Given the description of an element on the screen output the (x, y) to click on. 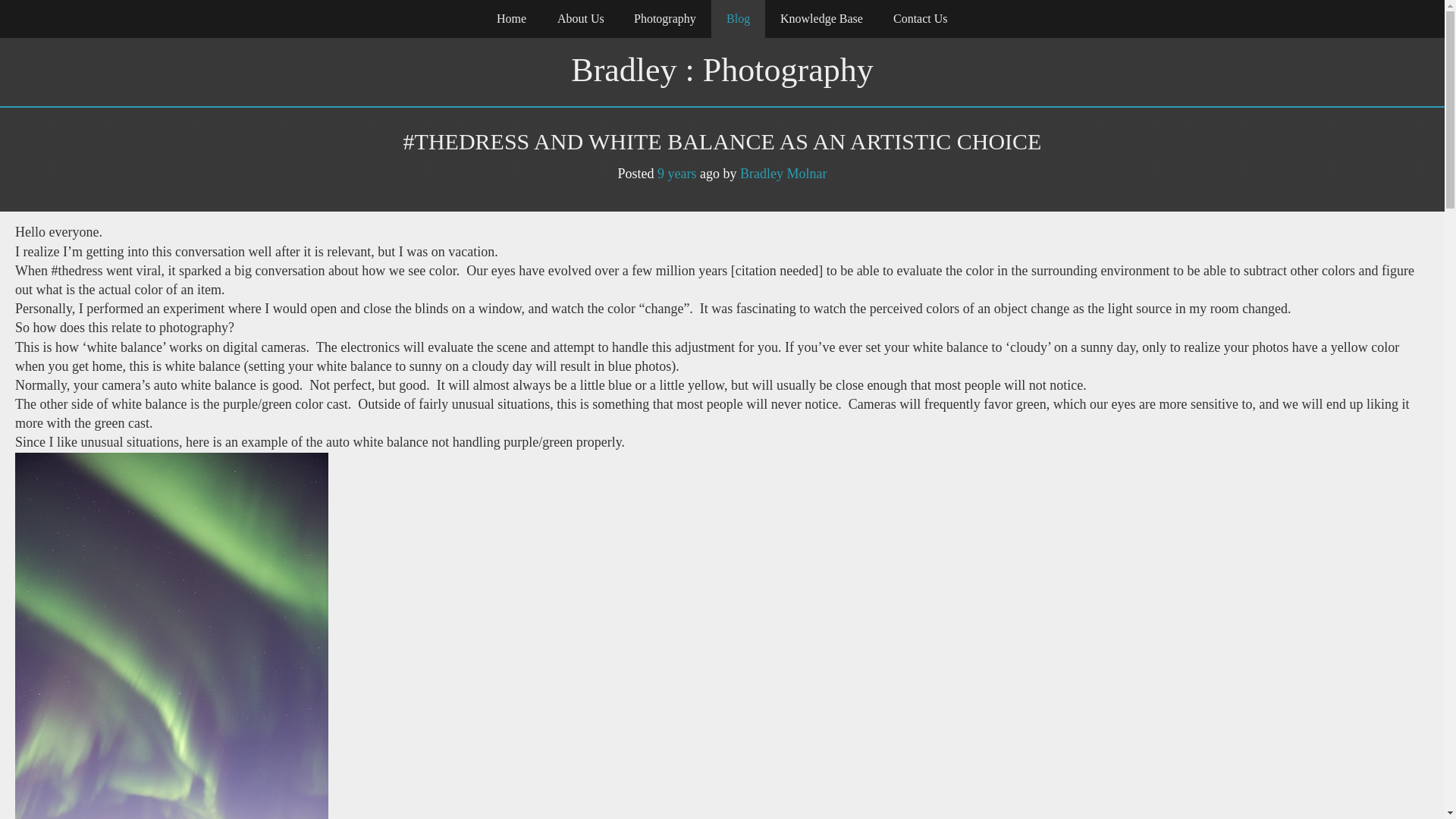
Photography (664, 18)
About Us (579, 18)
Knowledge Base (821, 18)
Contact Us (919, 18)
Blog (738, 18)
Bradley Molnar (783, 173)
Home (511, 18)
9 years (676, 173)
Bradley : Photography (721, 70)
